Given the description of an element on the screen output the (x, y) to click on. 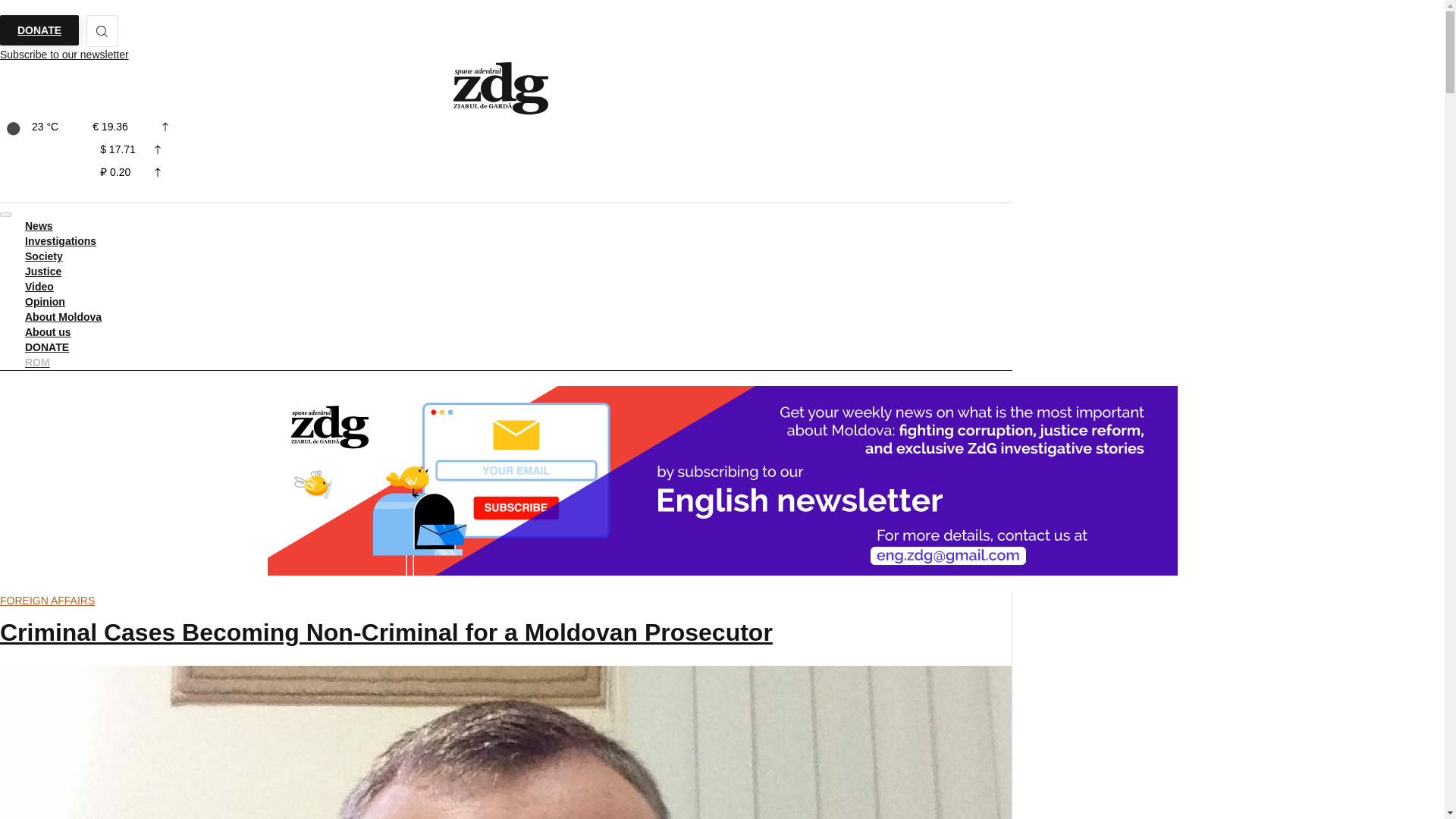
DONATE (46, 347)
Video (39, 286)
Justice (42, 271)
DONATE (39, 30)
ROM (36, 362)
Society (43, 255)
Opinion (44, 301)
About Moldova (63, 316)
News (38, 225)
Investigations (60, 241)
Subscribe to our newsletter (64, 54)
About us (47, 332)
FOREIGN AFFAIRS (47, 600)
